Given the description of an element on the screen output the (x, y) to click on. 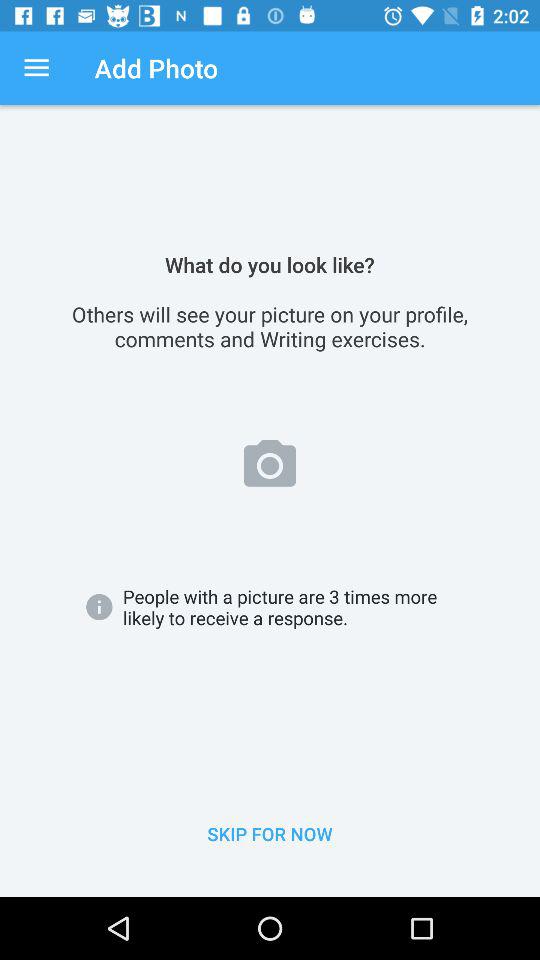
choose the item to the left of add photo item (36, 68)
